Given the description of an element on the screen output the (x, y) to click on. 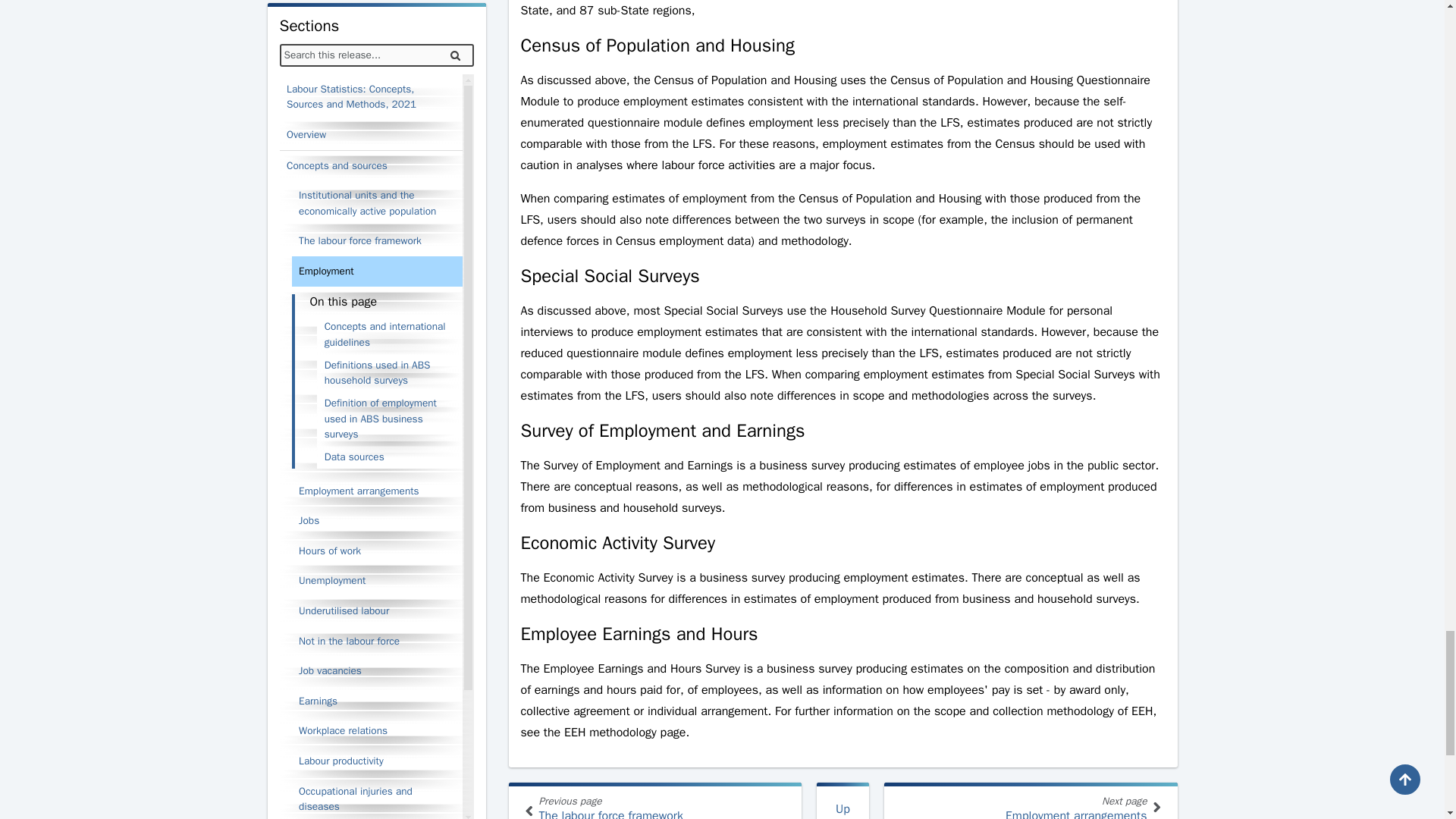
Previous page (527, 810)
Go to parent page (842, 800)
Next page (1030, 800)
Go to previous page (655, 800)
